Given the description of an element on the screen output the (x, y) to click on. 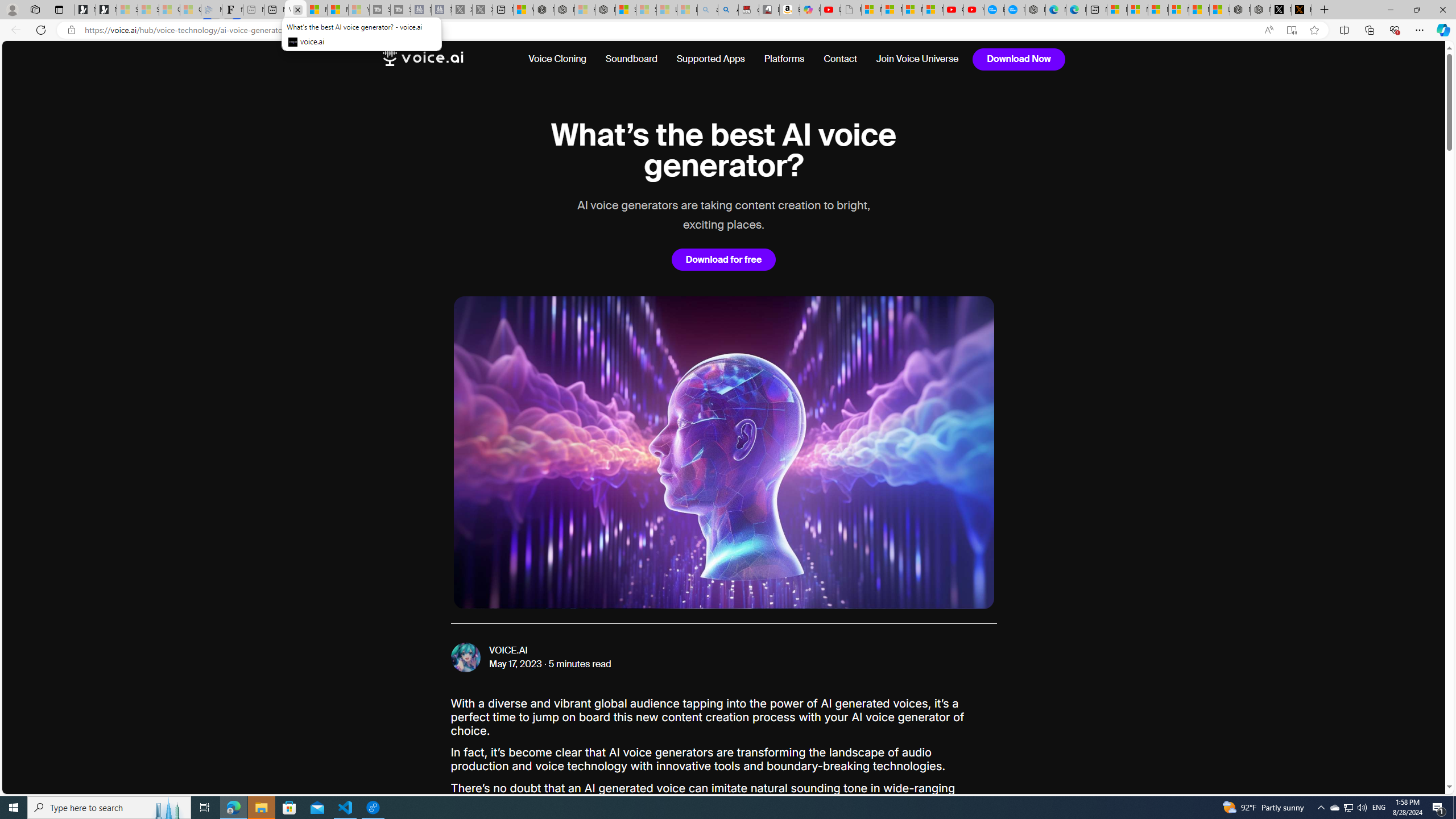
Download Now (1018, 58)
Untitled (850, 9)
Platforms (784, 59)
Voice Cloning (557, 59)
Nordace (@NordaceOfficial) / X (1280, 9)
Join Voice Universe (912, 59)
